Given the description of an element on the screen output the (x, y) to click on. 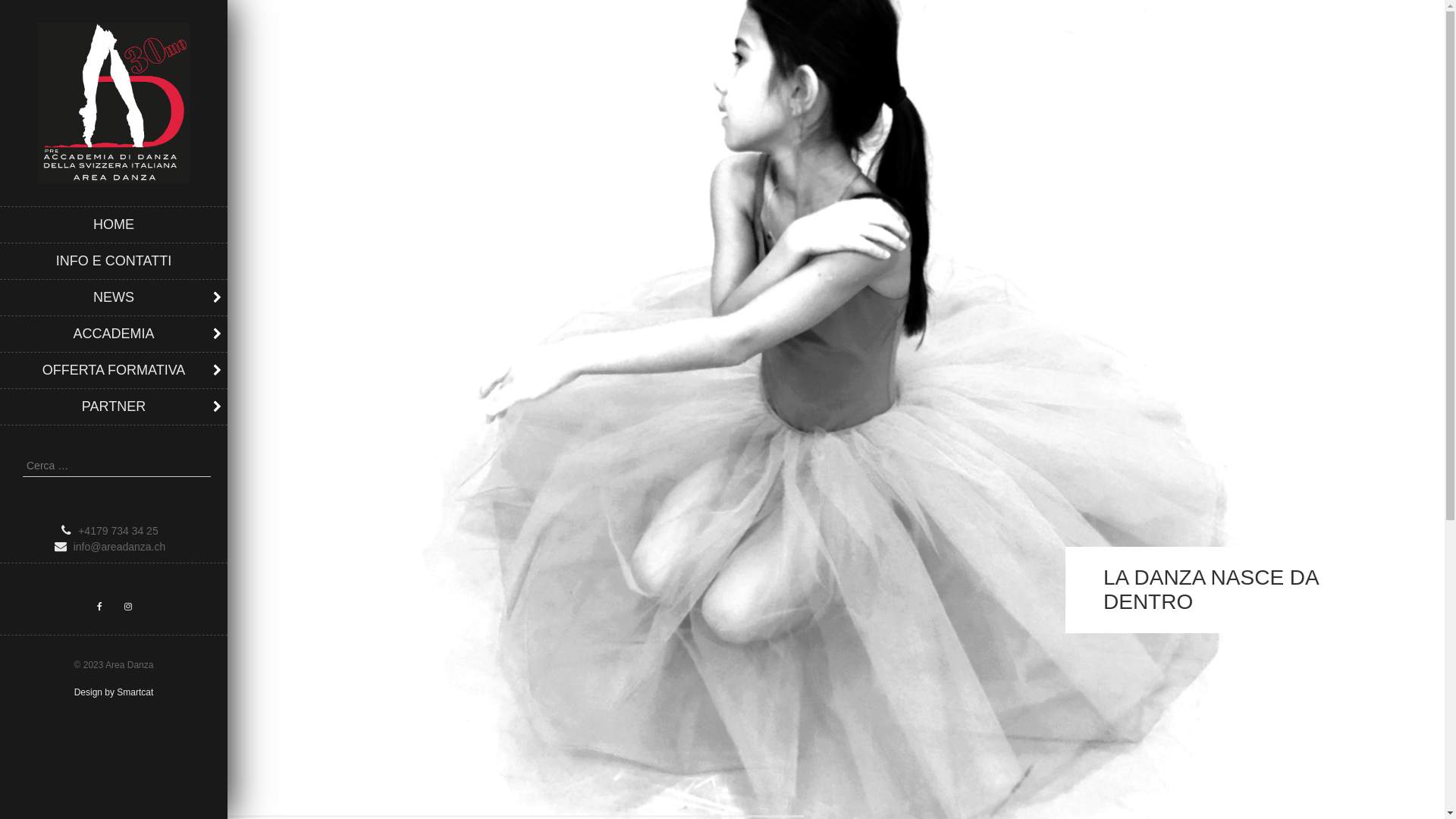
PARTNER Element type: text (113, 406)
NEWS Element type: text (113, 297)
info@areadanza.ch Element type: text (113, 547)
Cerca Element type: text (26, 11)
Ricerca per: Element type: hover (116, 465)
HOME Element type: text (113, 224)
INFO E CONTATTI Element type: text (113, 260)
OFFERTA FORMATIVA Element type: text (113, 369)
Design by Smartcat Element type: text (113, 692)
+4179 734 34 25 Element type: text (113, 531)
ACCADEMIA Element type: text (113, 333)
